Given the description of an element on the screen output the (x, y) to click on. 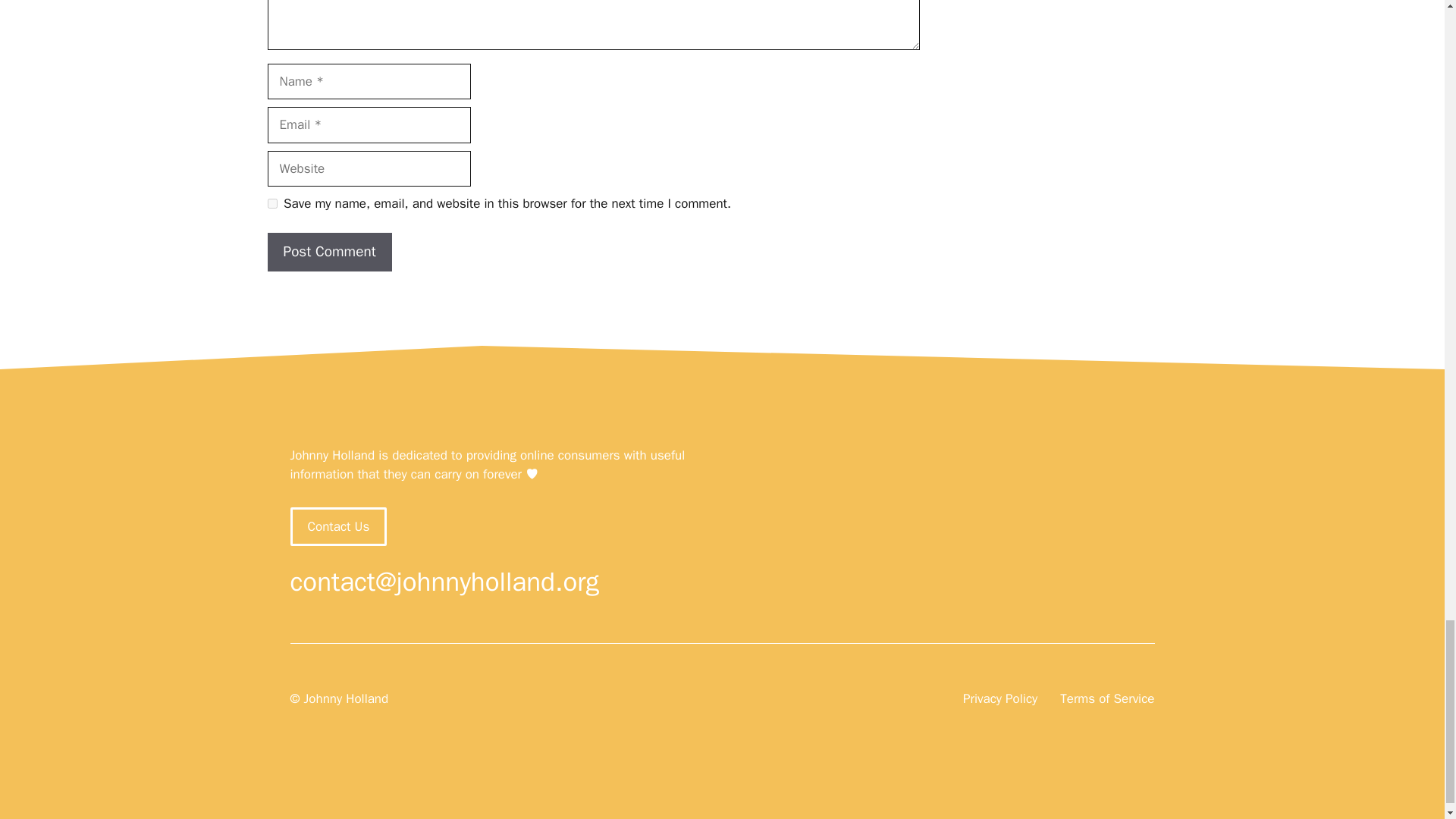
Terms of Service (1106, 699)
Contact Us (338, 526)
Post Comment (328, 251)
yes (271, 203)
Privacy Policy (999, 699)
Post Comment (328, 251)
